Given the description of an element on the screen output the (x, y) to click on. 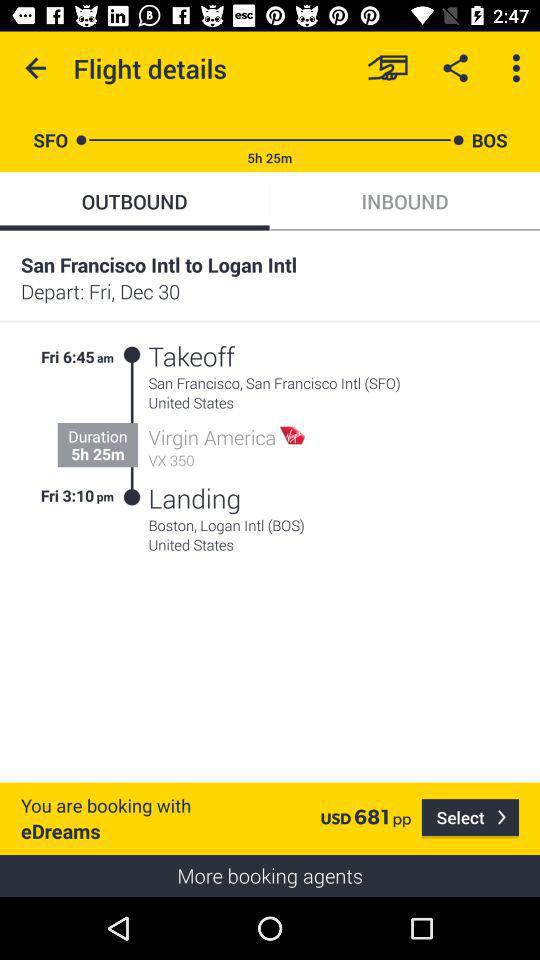
turn on icon next to flight details item (36, 68)
